Given the description of an element on the screen output the (x, y) to click on. 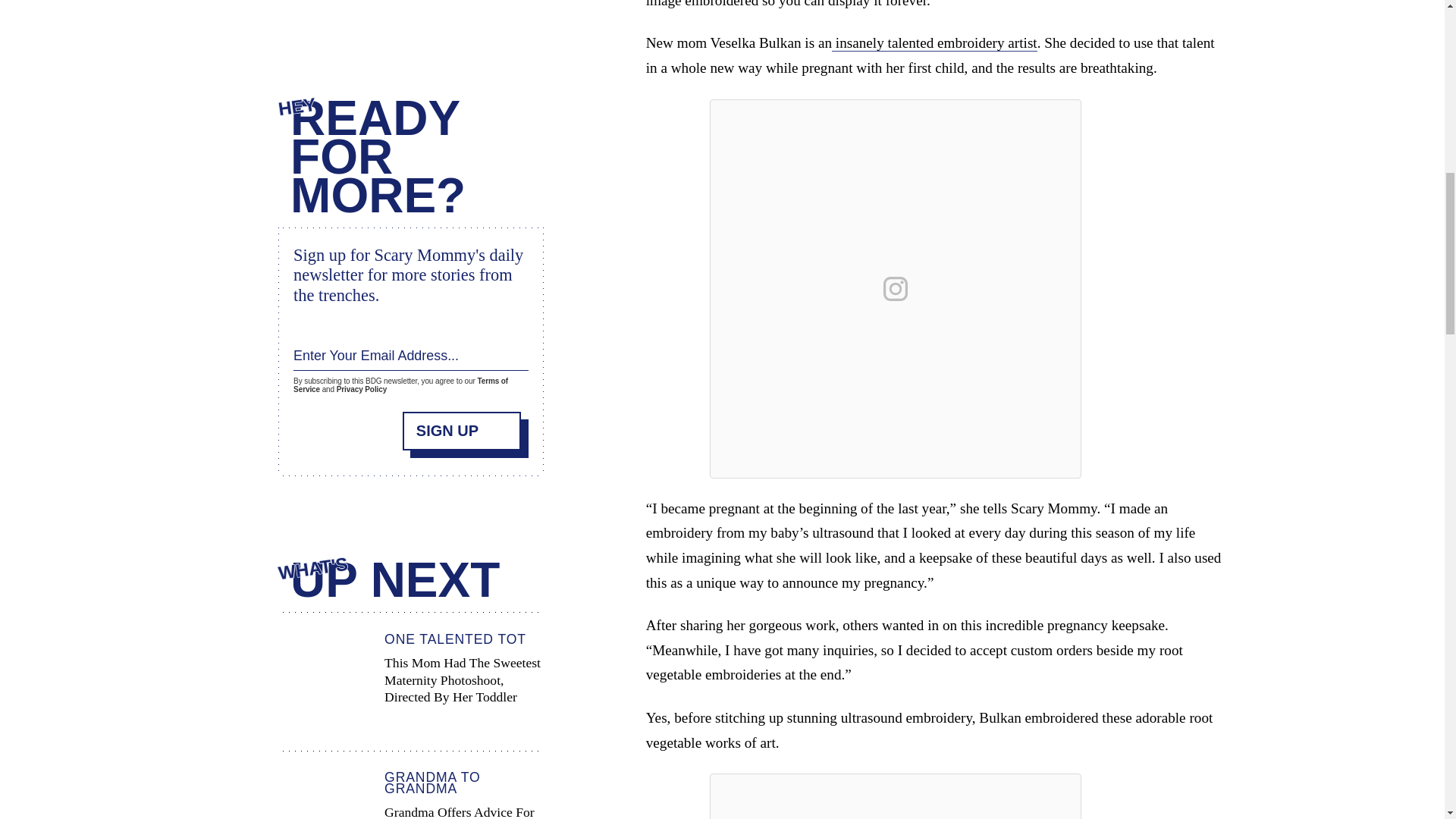
Terms of Service (401, 384)
insanely talented embroidery artist (933, 43)
View on Instagram (895, 289)
Privacy Policy (361, 388)
SIGN UP (462, 430)
